Given the description of an element on the screen output the (x, y) to click on. 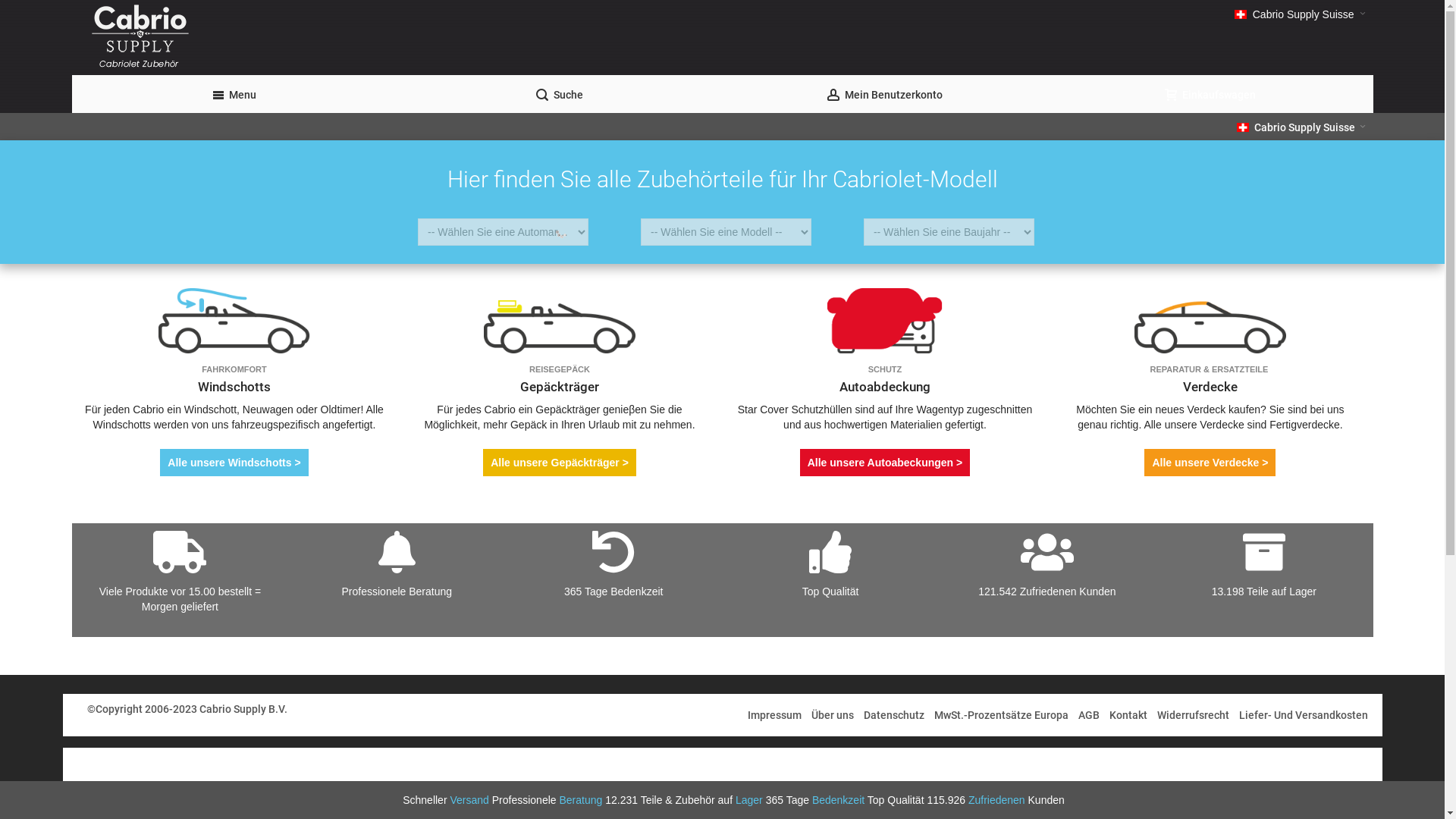
Impressum Element type: text (773, 714)
Einkaufswagen Element type: text (1210, 93)
Alle unsere Verdecke > Element type: text (1209, 462)
Alle unsere Autoabeckungen > Element type: text (884, 462)
Mein Benutzerkonto Element type: text (884, 93)
  Cabrio Supply Suisse Element type: text (1300, 126)
Suche Element type: text (559, 93)
Liefer- Und Versandkosten Element type: text (1302, 714)
Autabdeckungen Element type: hover (884, 294)
Alle unsere Windschotts > Element type: text (233, 462)
Menu Element type: text (233, 93)
Verdecke Element type: hover (1210, 294)
AGB Element type: text (1088, 714)
Kontakt Element type: text (1128, 714)
Widerrufsrecht Element type: text (1192, 714)
Windschotts Element type: hover (234, 294)
  Cabrio Supply Suisse Element type: text (1299, 13)
Datenschutz Element type: text (893, 714)
Cabrio Supply Element type: hover (461, 37)
